Given the description of an element on the screen output the (x, y) to click on. 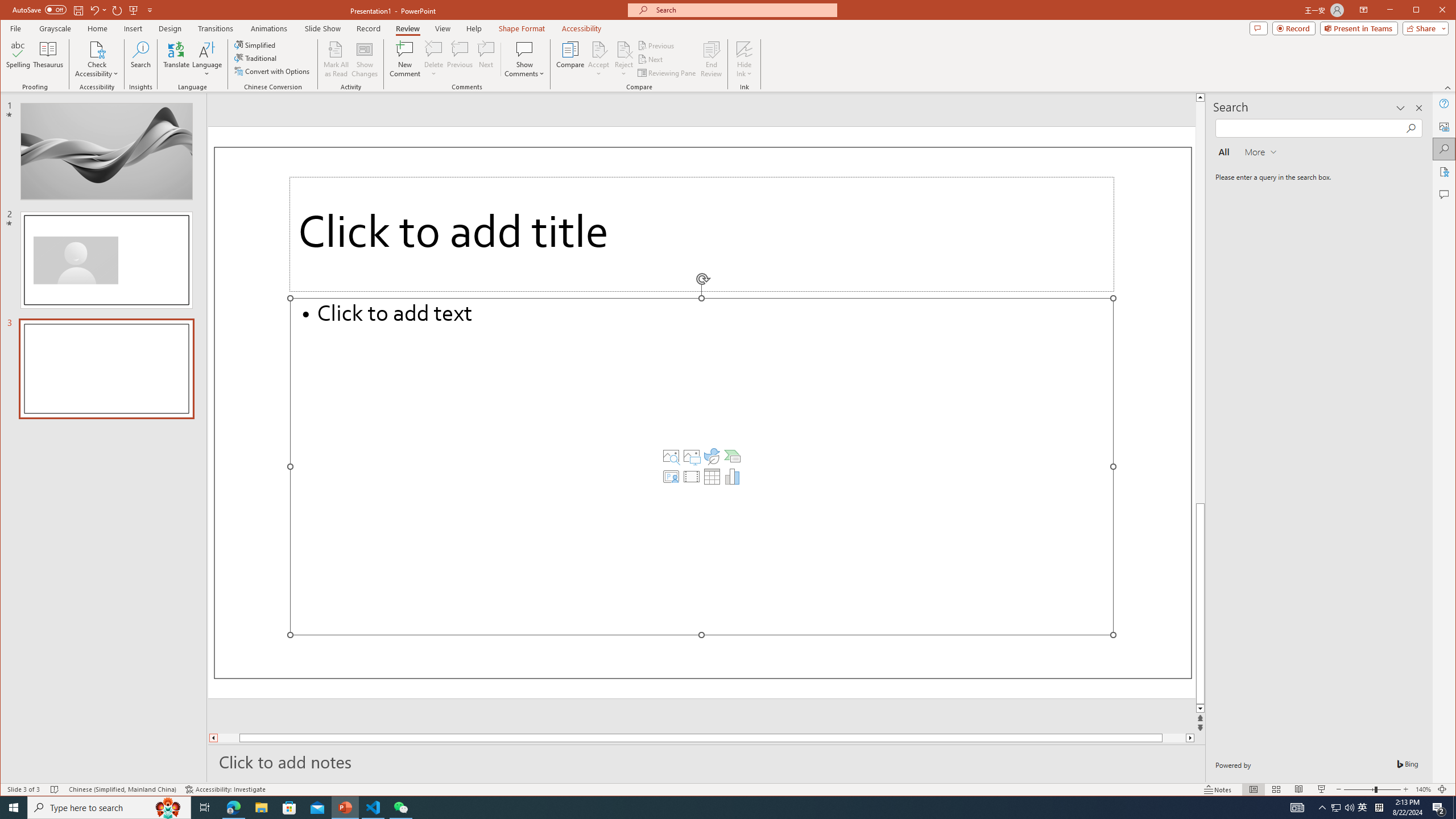
Insert Table (711, 476)
Show Changes (365, 59)
